Given the description of an element on the screen output the (x, y) to click on. 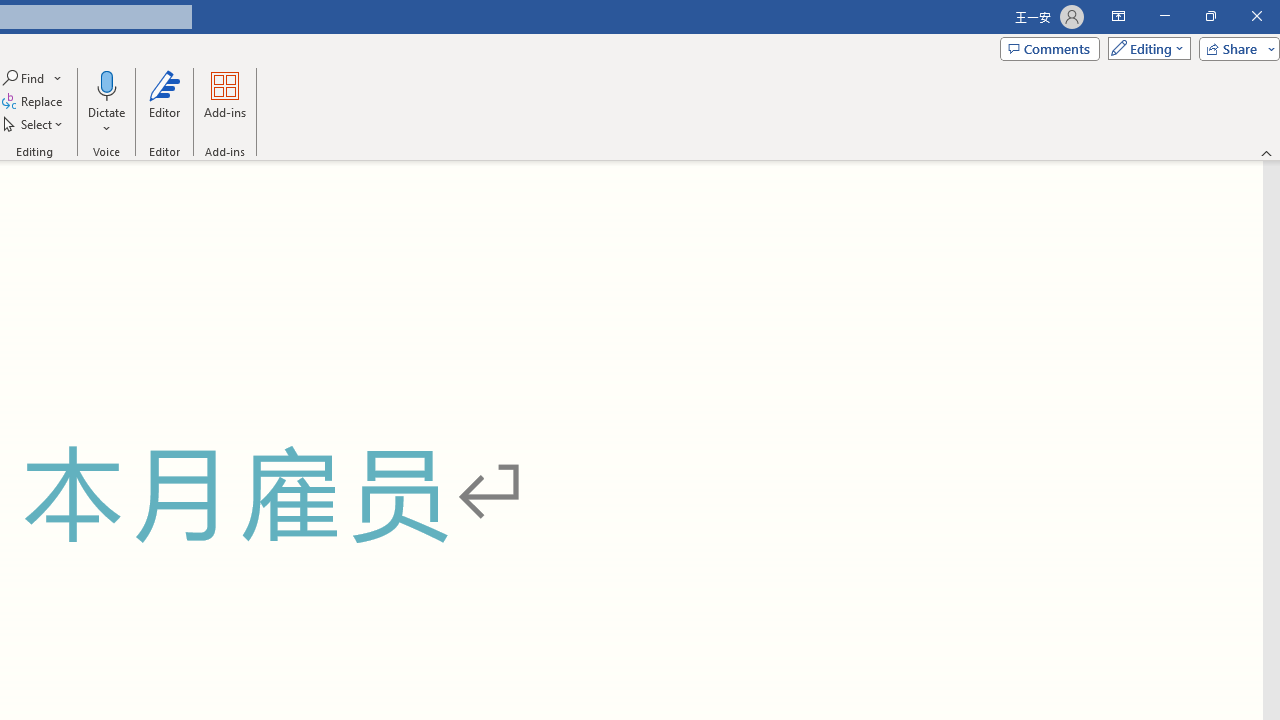
Editing (1144, 47)
